Given the description of an element on the screen output the (x, y) to click on. 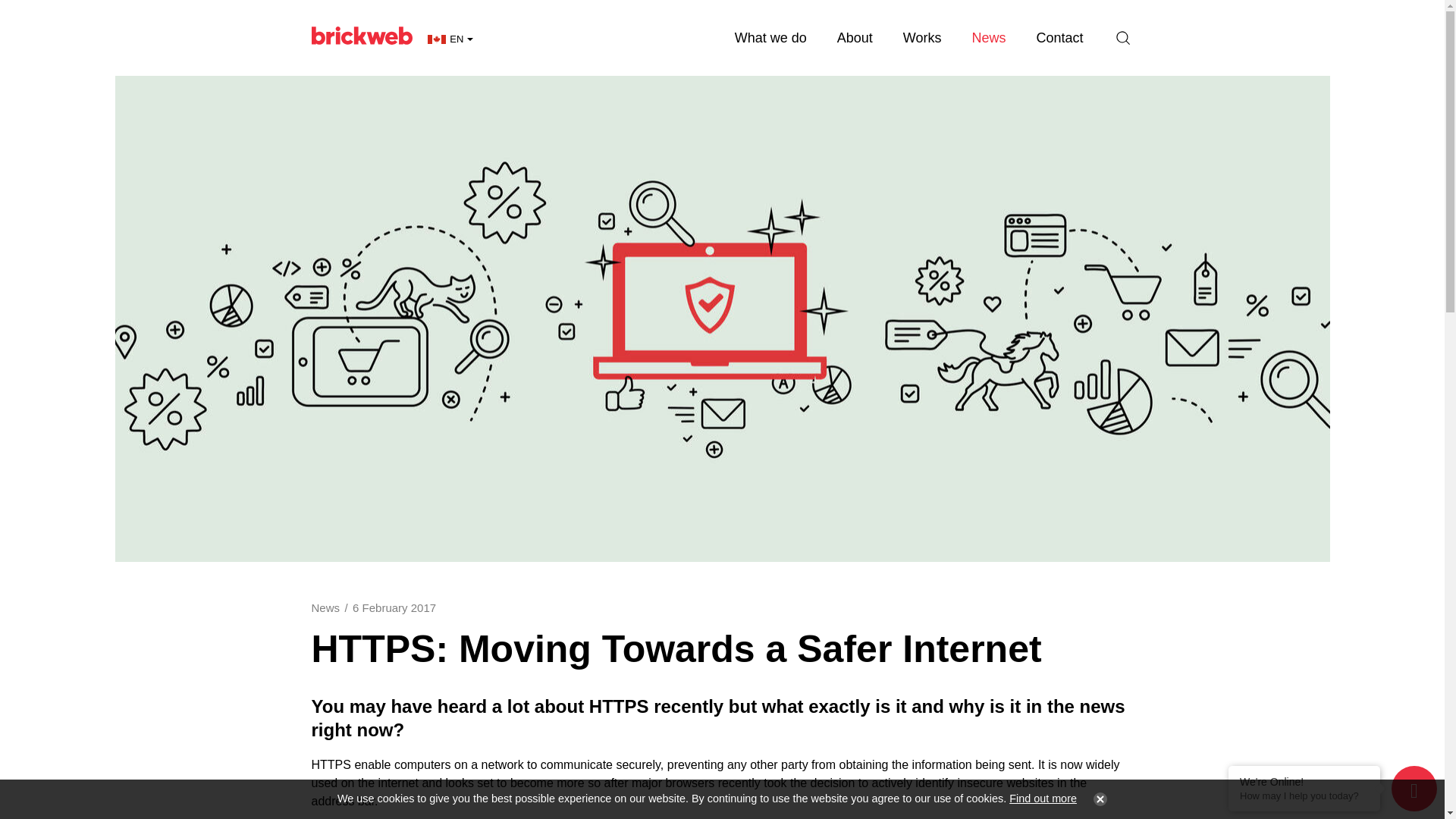
Contact (1058, 37)
About (855, 37)
Brick technology news (988, 37)
6 February 2017 (393, 607)
Works (922, 37)
News (325, 607)
What we do (770, 37)
News (988, 37)
EN (450, 39)
